Given the description of an element on the screen output the (x, y) to click on. 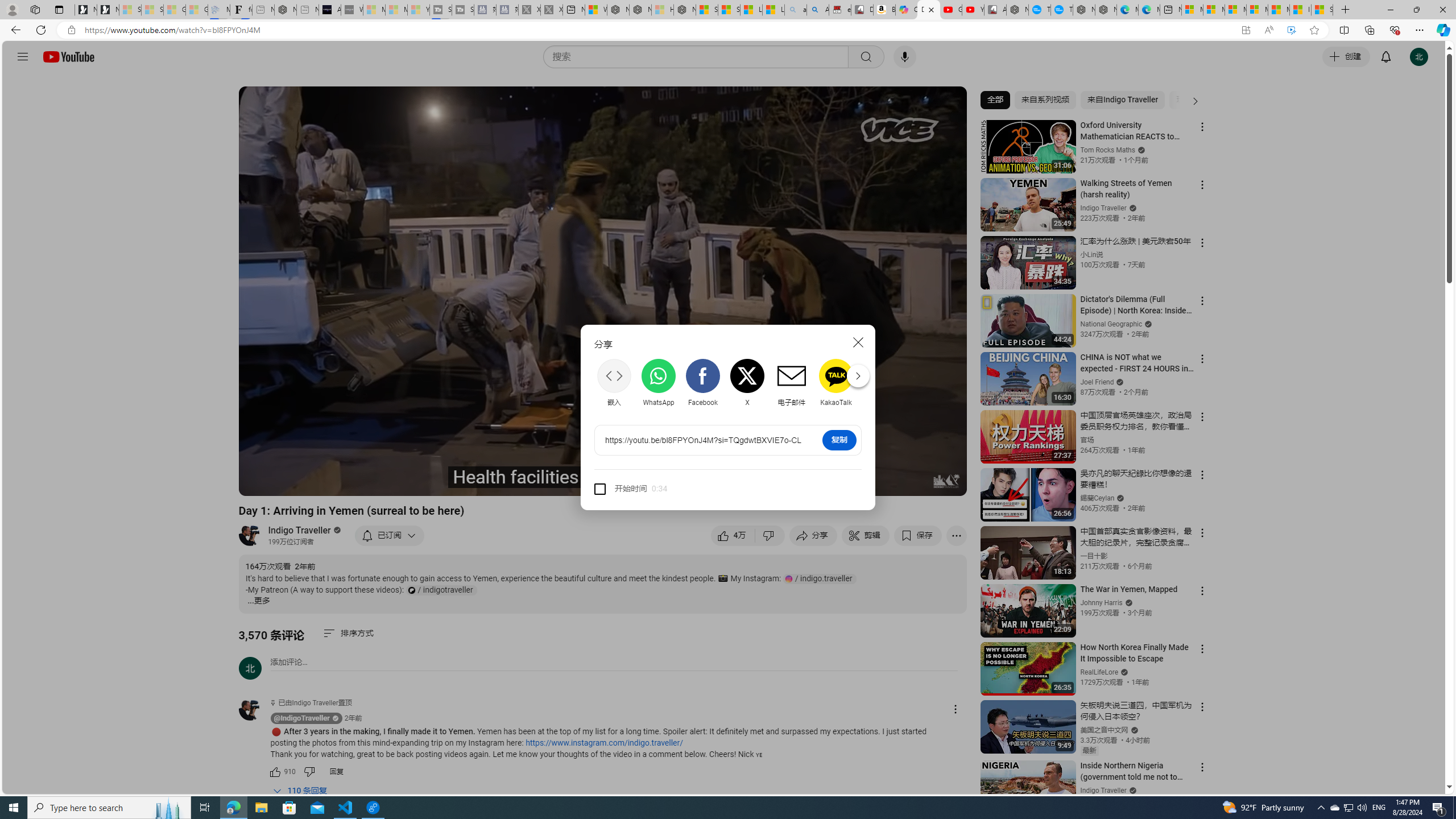
Nordace - Nordace has arrived Hong Kong (1105, 9)
Microsoft account | Microsoft Account Privacy Settings (1214, 9)
@IndigoTraveller (254, 709)
AI Voice Changer for PC and Mac - Voice.ai (330, 9)
